Given the description of an element on the screen output the (x, y) to click on. 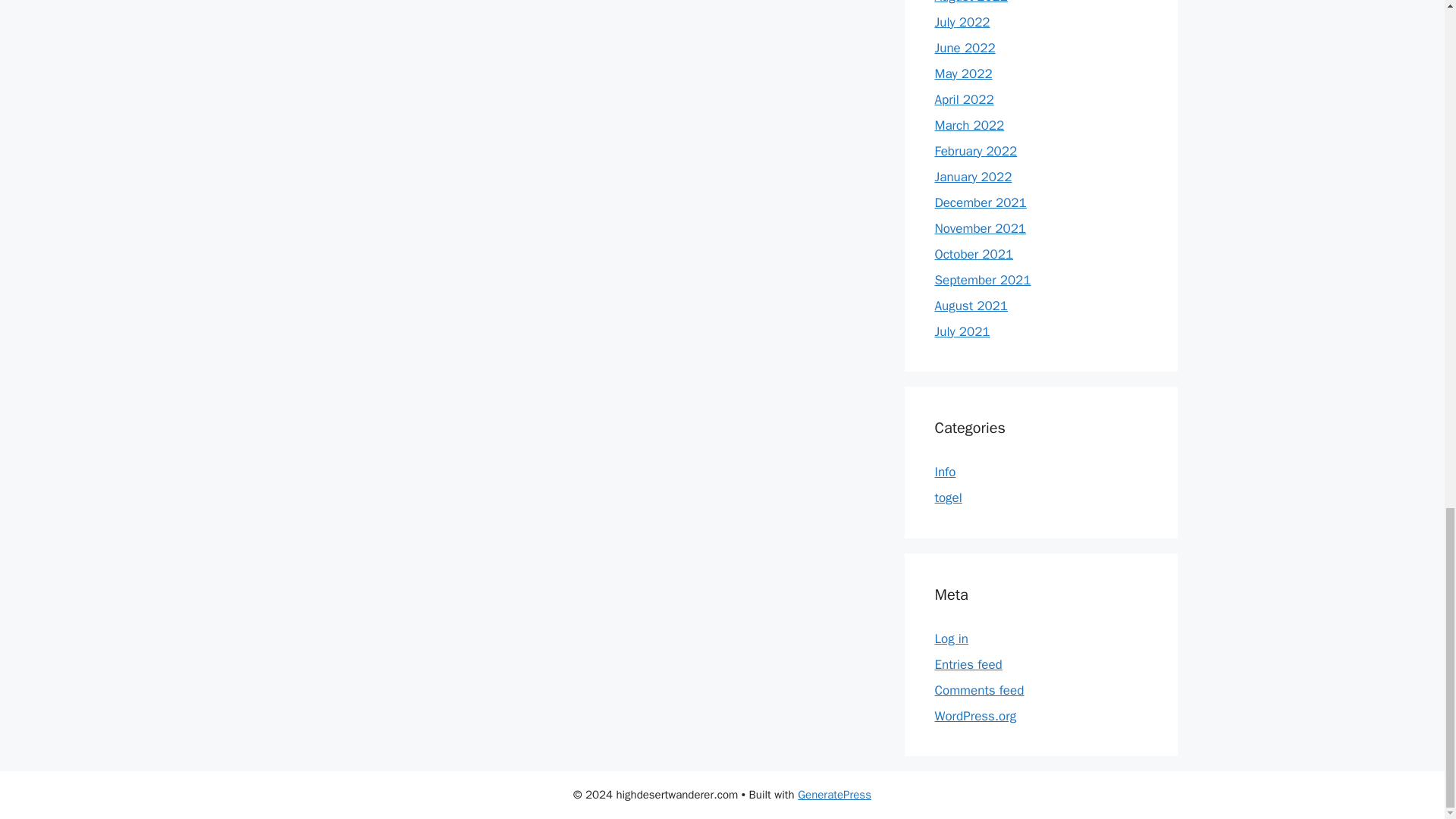
July 2022 (962, 22)
August 2022 (970, 2)
